Given the description of an element on the screen output the (x, y) to click on. 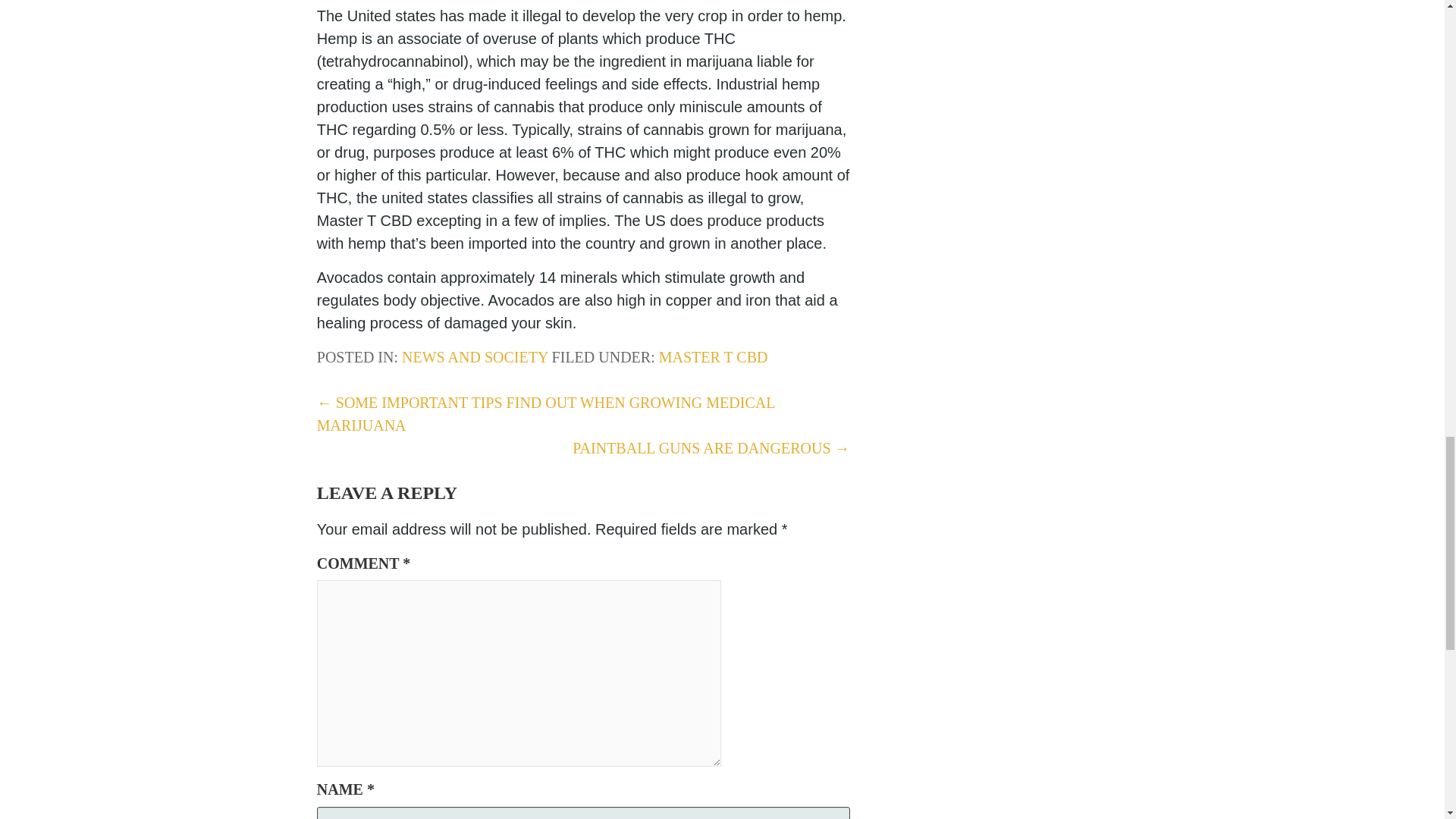
NEWS AND SOCIETY (474, 356)
MASTER T CBD (713, 356)
